Given the description of an element on the screen output the (x, y) to click on. 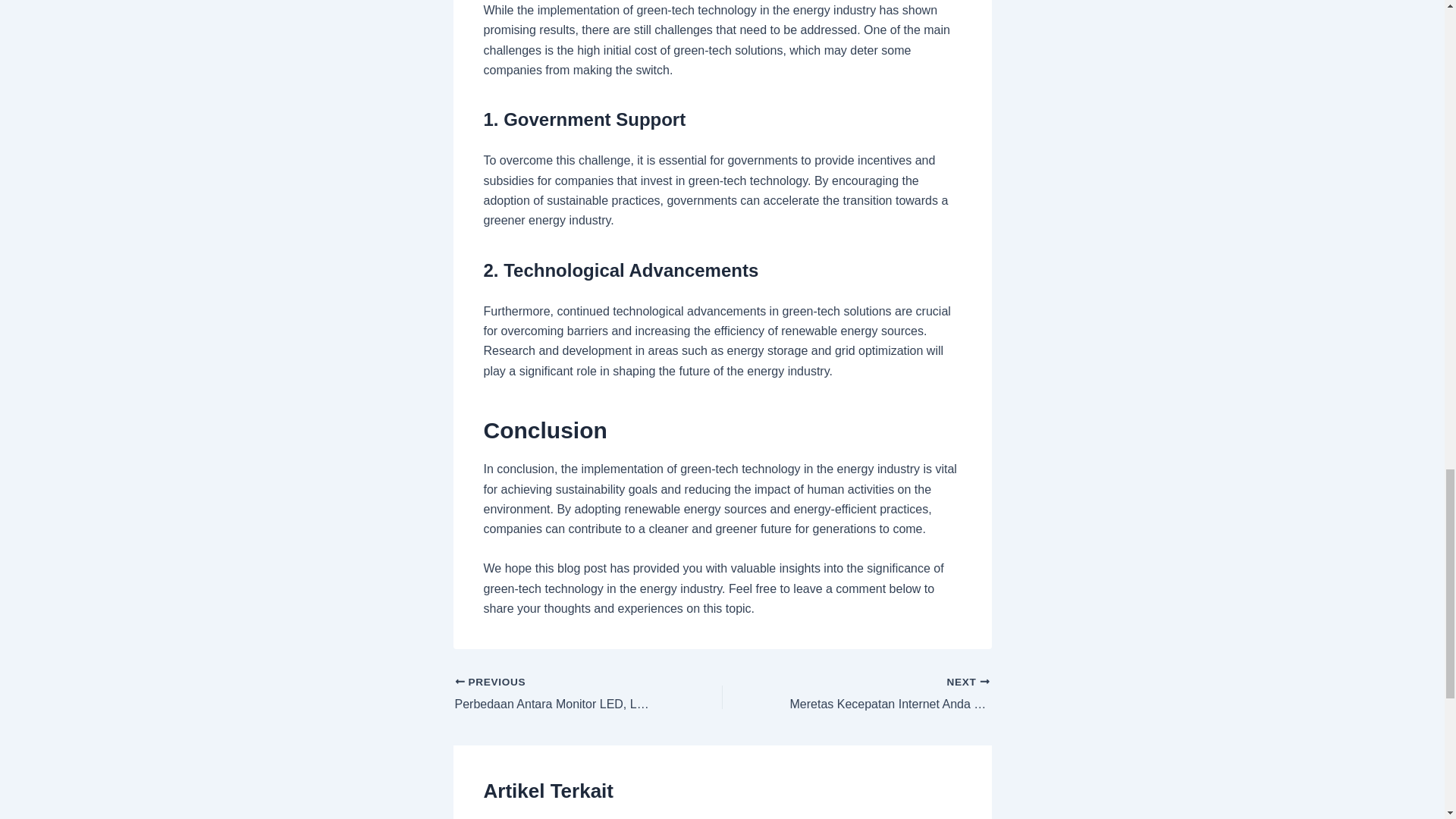
Perbedaan Antara Monitor LED, LCD, dan IPS (561, 694)
Meretas Kecepatan Internet Anda dengan Mudah (882, 694)
